Given the description of an element on the screen output the (x, y) to click on. 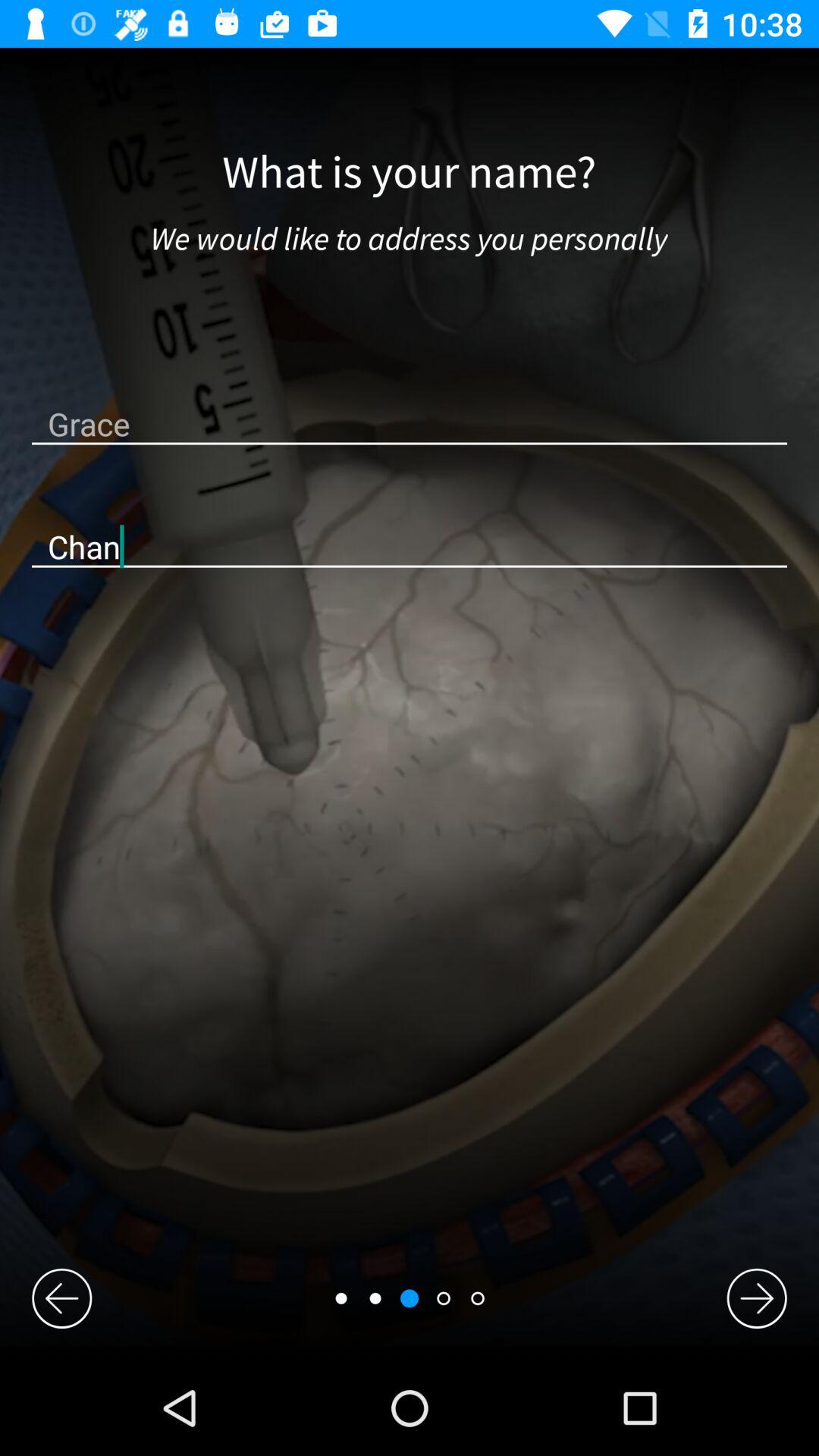
select icon below we would like item (409, 423)
